Given the description of an element on the screen output the (x, y) to click on. 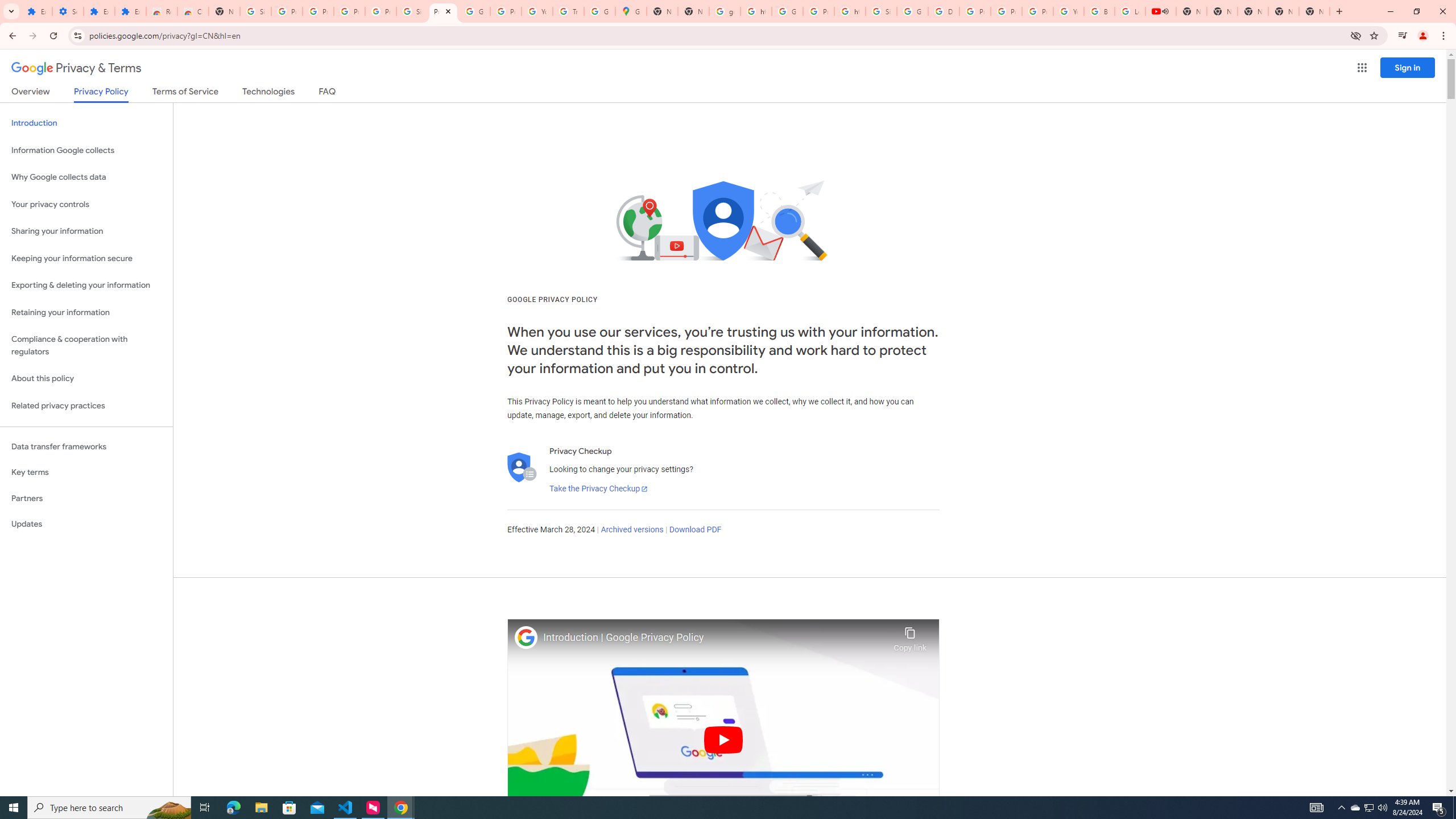
Related privacy practices (86, 405)
https://scholar.google.com/ (849, 11)
Sharing your information (86, 230)
Play (723, 739)
Copy link (909, 636)
Sign in - Google Accounts (881, 11)
Take the Privacy Checkup (597, 488)
Partners (86, 497)
